Given the description of an element on the screen output the (x, y) to click on. 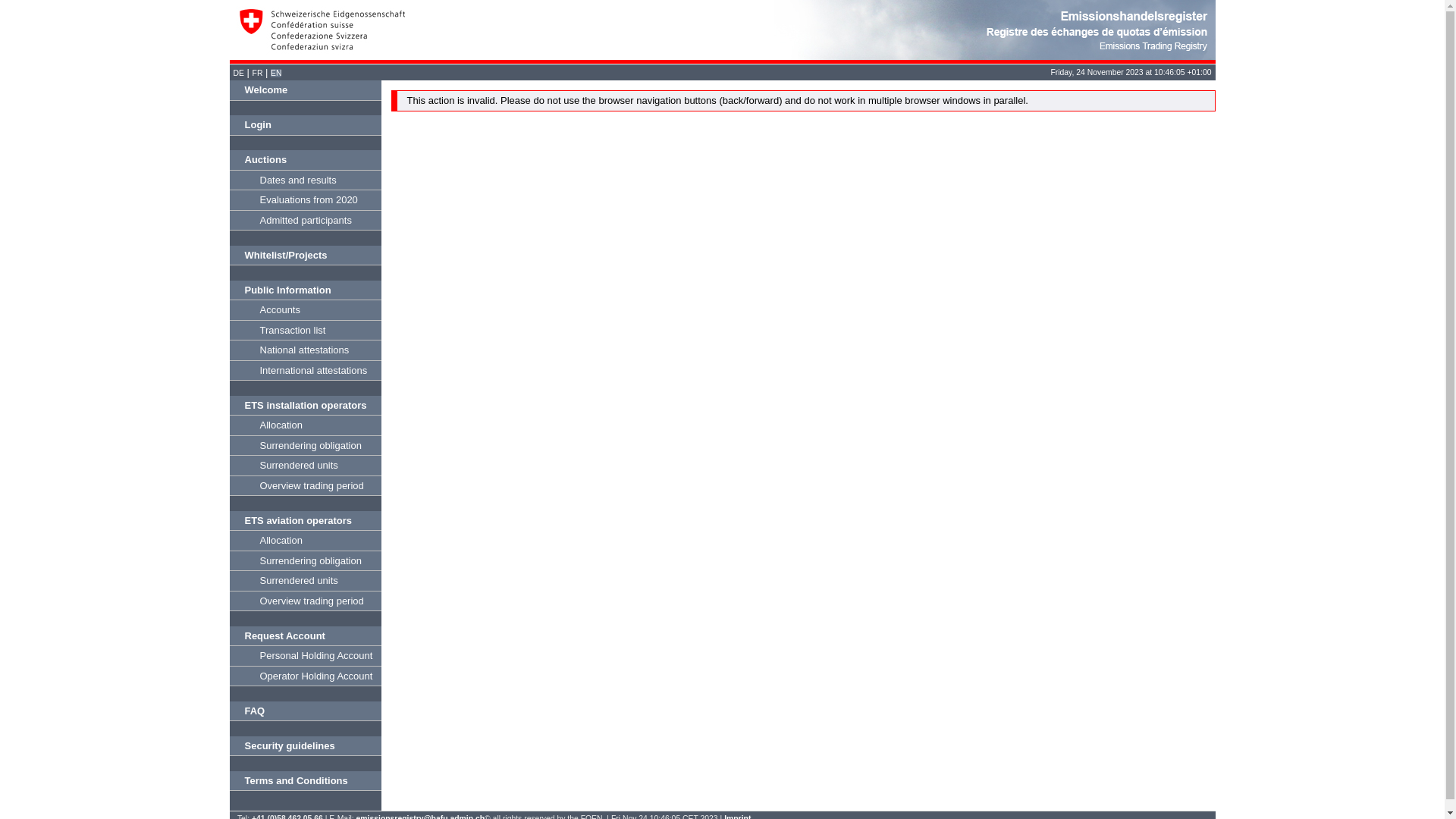
Public Information Element type: text (304, 290)
Overview trading period Element type: text (304, 486)
Transaction list Element type: text (304, 330)
Dates and results Element type: text (304, 179)
Terms and Conditions Element type: text (304, 780)
Operator Holding Account Element type: text (304, 675)
Request Account Element type: text (304, 636)
Allocation Element type: text (304, 540)
Allocation Element type: text (304, 425)
Personal Holding Account Element type: text (304, 656)
Surrendering obligation Element type: text (304, 445)
Admitted participants Element type: text (304, 220)
Evaluations from 2020 Element type: text (304, 200)
National attestations Element type: text (304, 350)
Welcome Element type: text (304, 90)
FR Element type: text (257, 73)
Surrendered units Element type: text (304, 581)
Accounts Element type: text (304, 310)
International attestations Element type: text (304, 370)
Surrendering obligation Element type: text (304, 560)
DE Element type: text (238, 73)
Surrendered units Element type: text (304, 465)
Overview trading period Element type: text (304, 601)
Security guidelines Element type: text (304, 745)
EN Element type: text (275, 73)
Login Element type: text (304, 125)
Whitelist/Projects Element type: text (304, 255)
FAQ Element type: text (304, 710)
